Given the description of an element on the screen output the (x, y) to click on. 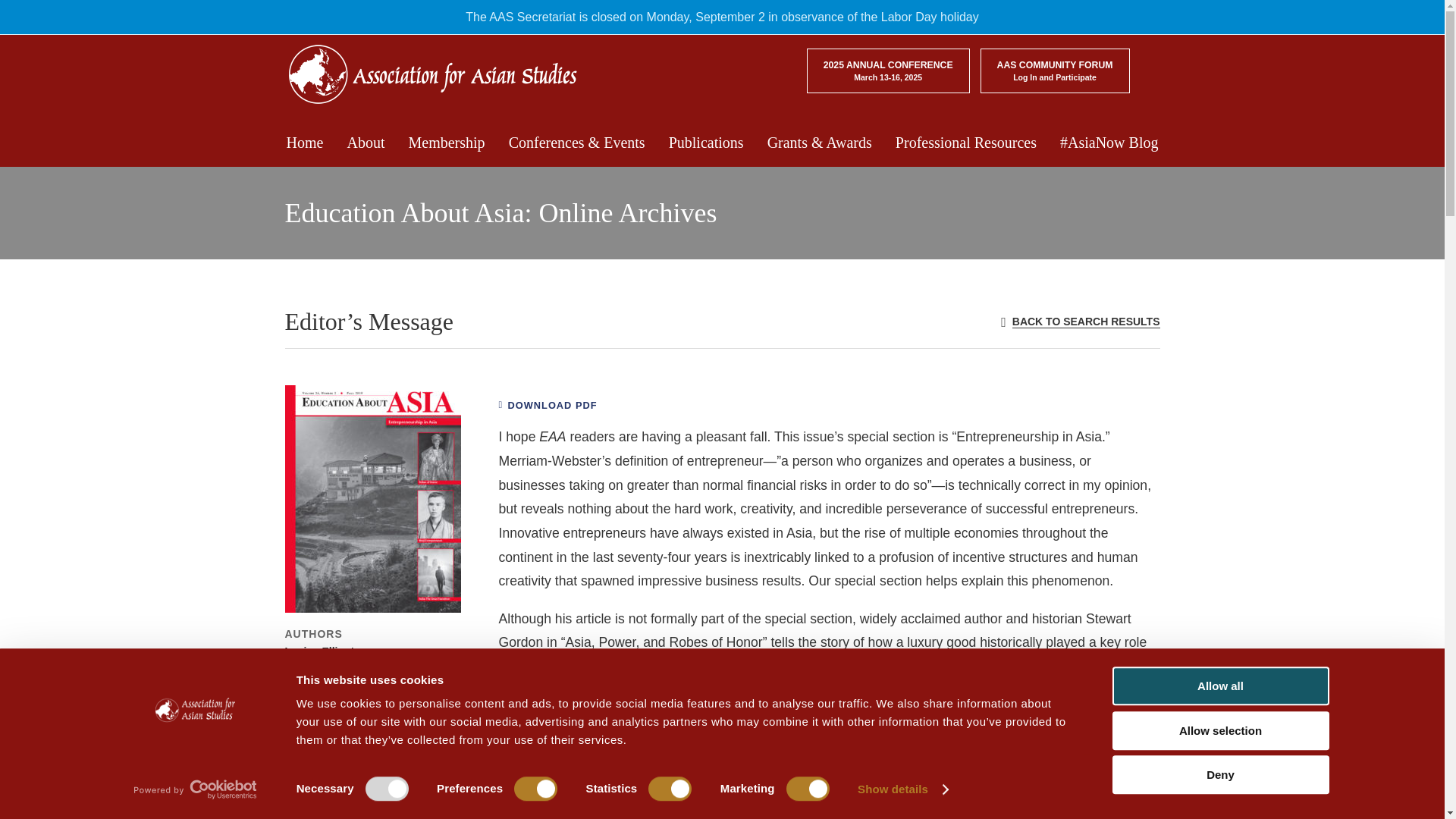
Show details (902, 789)
Directory (877, 10)
Donate (933, 10)
Bookstore (813, 10)
Calendar (749, 10)
